Given the description of an element on the screen output the (x, y) to click on. 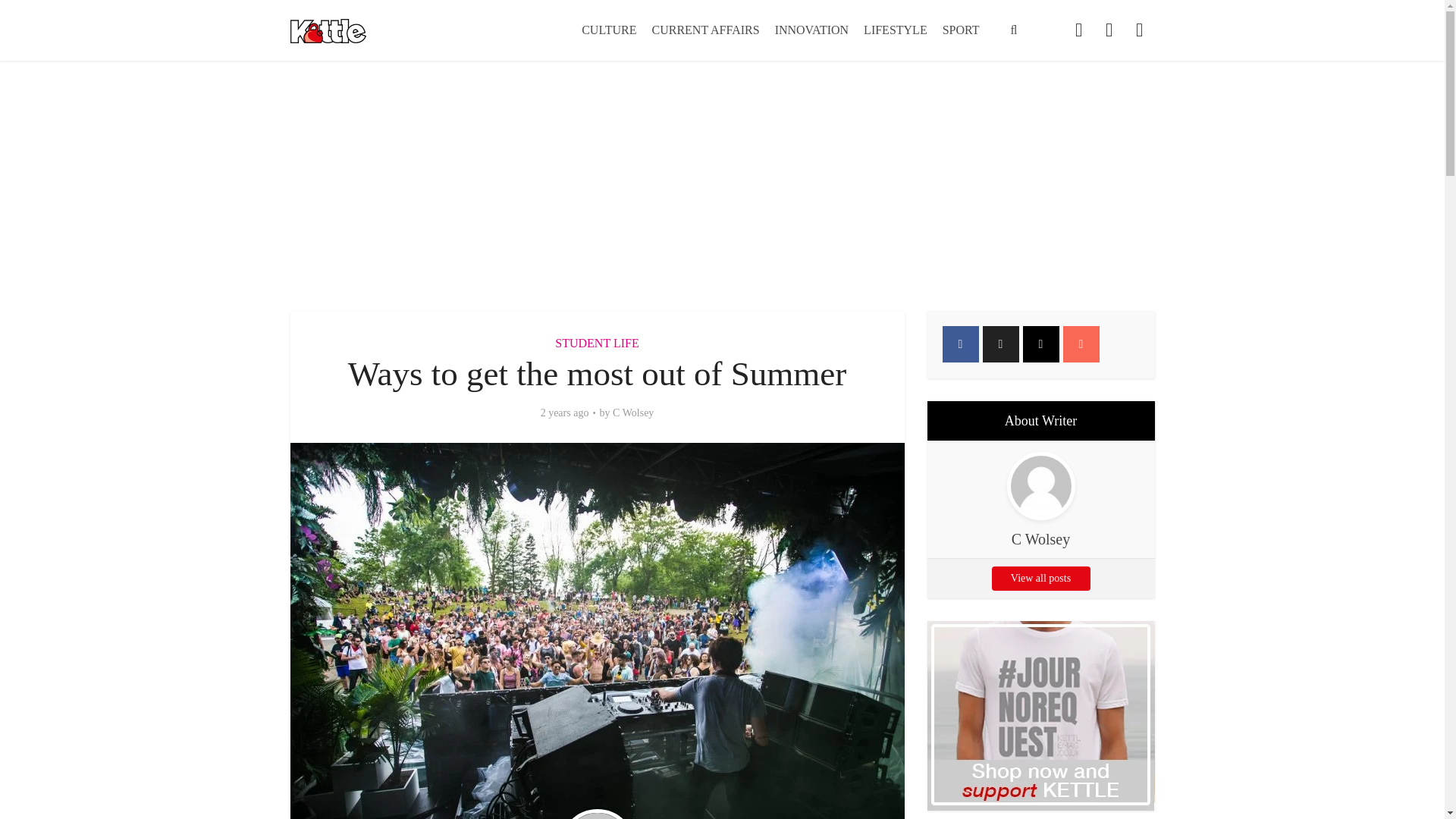
C Wolsey (632, 413)
INNOVATION (811, 30)
STUDENT LIFE (596, 342)
CULTURE (608, 30)
CURRENT AFFAIRS (706, 30)
Facebook (960, 343)
LIFESTYLE (895, 30)
